Given the description of an element on the screen output the (x, y) to click on. 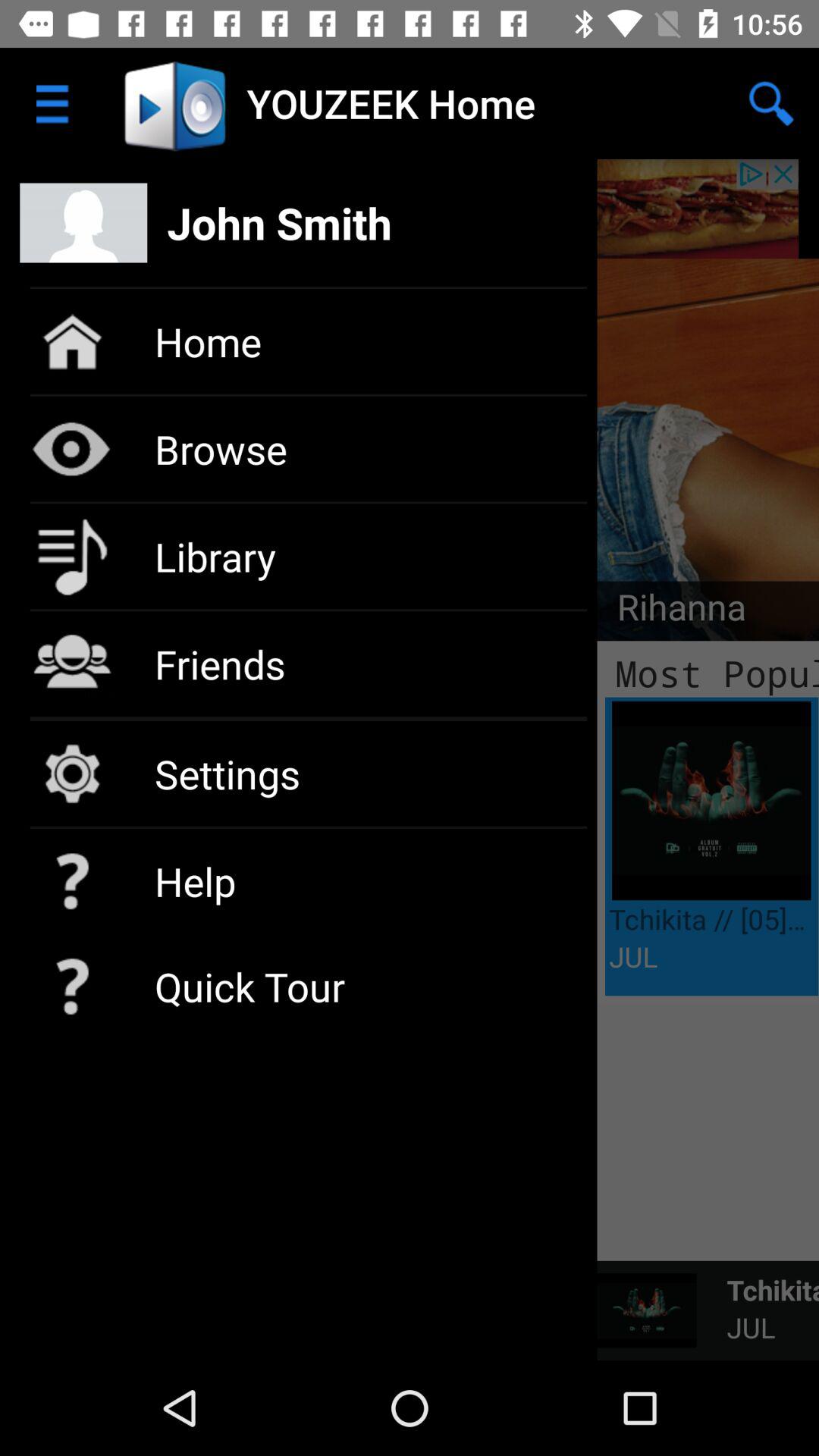
tap the item above the most popular item (671, 611)
